Given the description of an element on the screen output the (x, y) to click on. 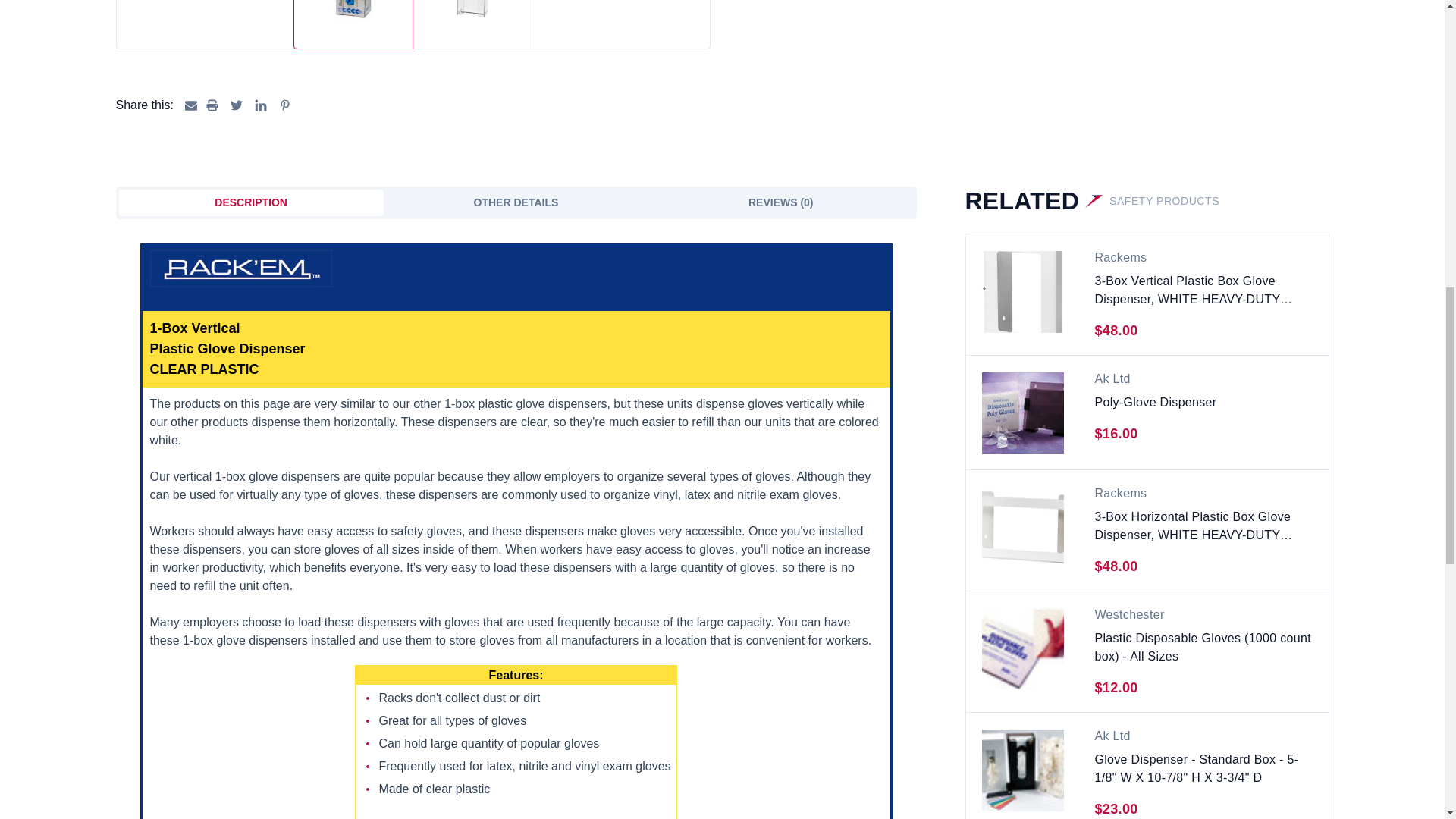
Pinterest (285, 105)
1-Box Vertical Plastic Glove Dispenser, CLEAR PLASTIC (353, 9)
Linkedin (260, 105)
Print (212, 105)
Email (190, 105)
Polyethylene Plastic Glove Dispenser  Pic 1 (1022, 413)
Twitter (236, 105)
